Given the description of an element on the screen output the (x, y) to click on. 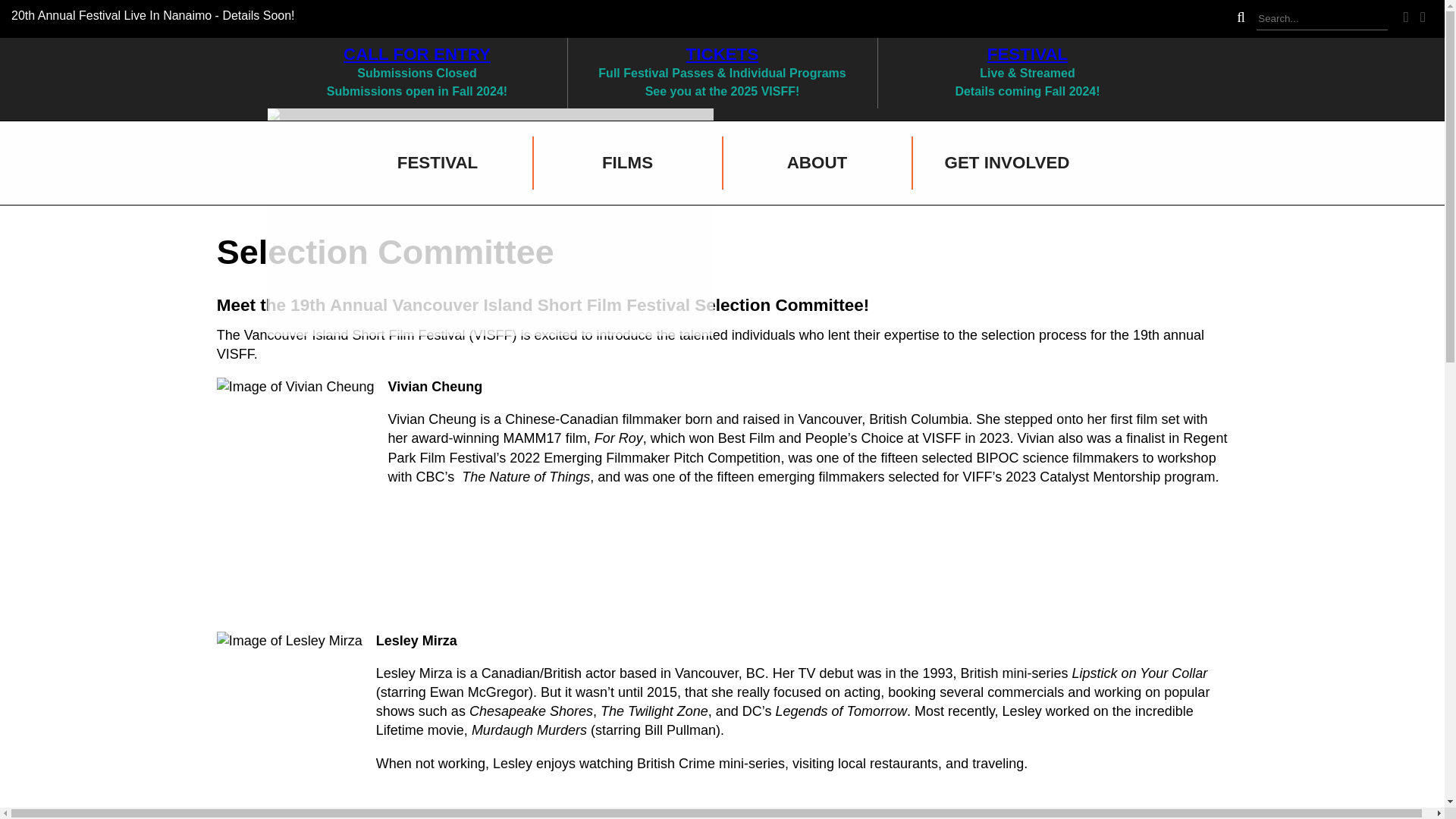
ABOUT (816, 162)
FESTIVAL (437, 162)
FESTIVAL (1027, 54)
TICKETS (721, 54)
Join our mailing list! (599, 185)
FILMS (627, 162)
GET INVOLVED (1005, 162)
Search (1321, 18)
CALL FOR ENTRY (416, 54)
